Given the description of an element on the screen output the (x, y) to click on. 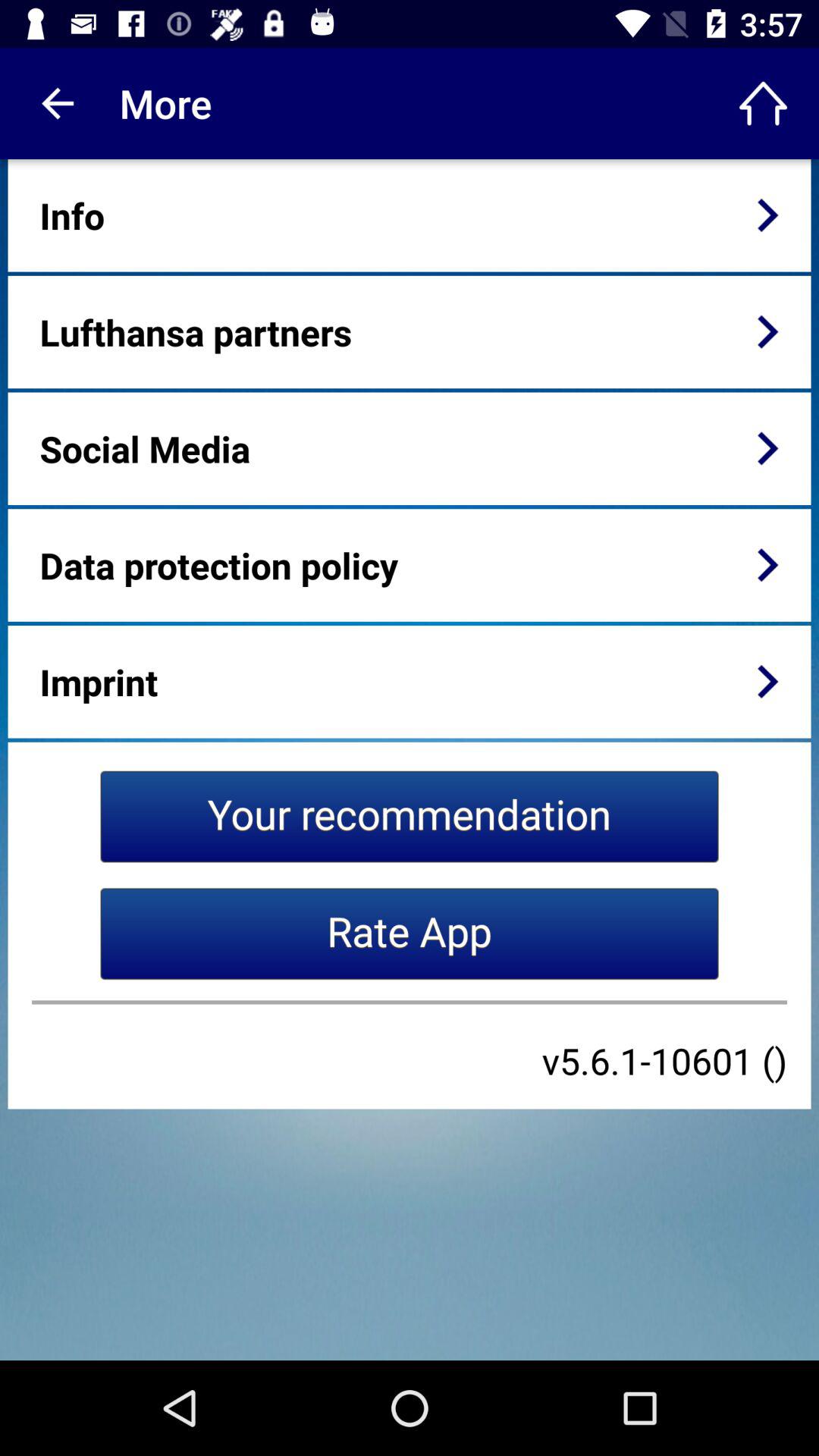
click item below the info icon (195, 331)
